Given the description of an element on the screen output the (x, y) to click on. 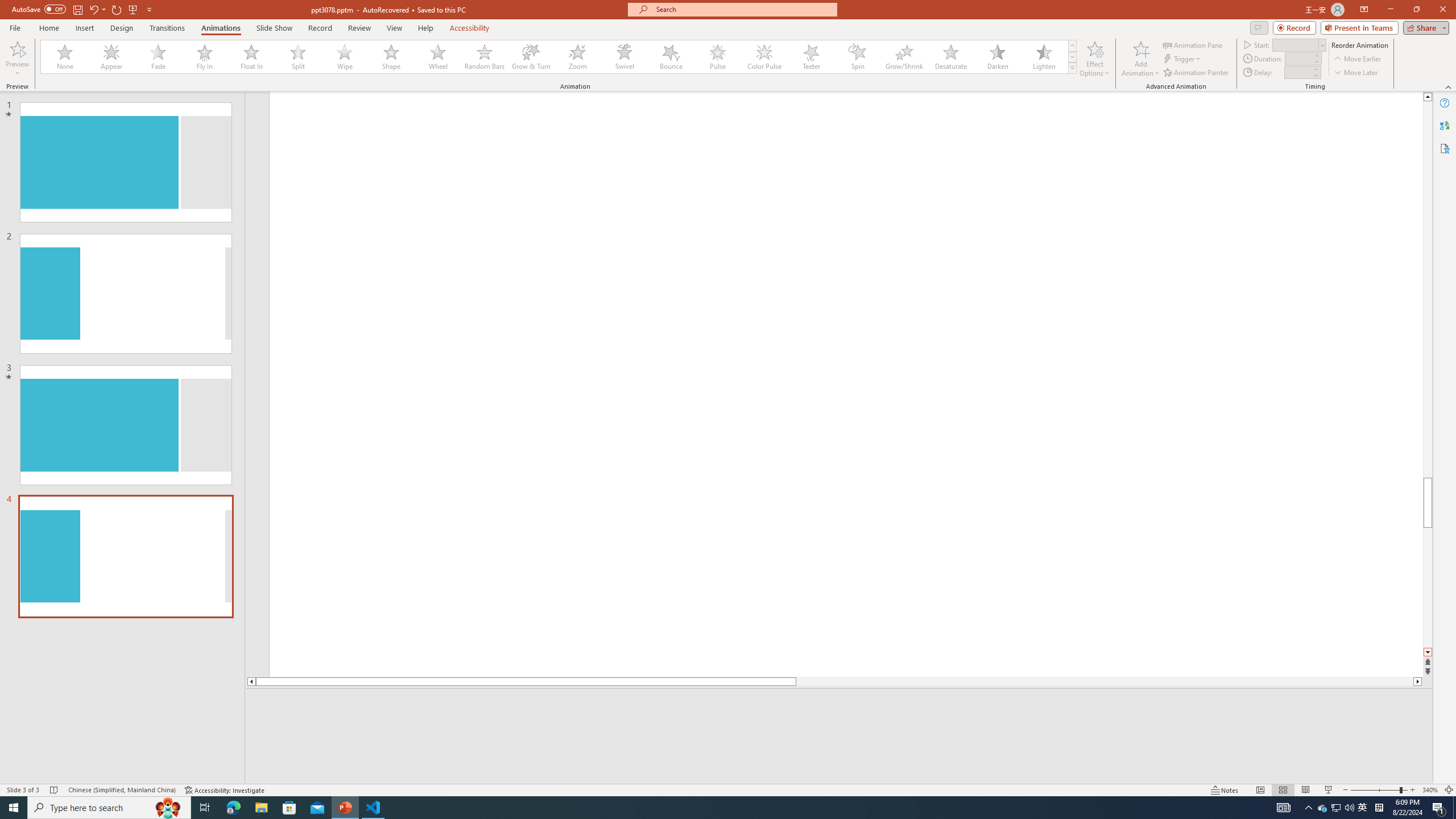
Zoom 340% (1430, 790)
Grow & Turn (531, 56)
Move Earlier (1357, 58)
Float In (251, 56)
Shape (391, 56)
